Given the description of an element on the screen output the (x, y) to click on. 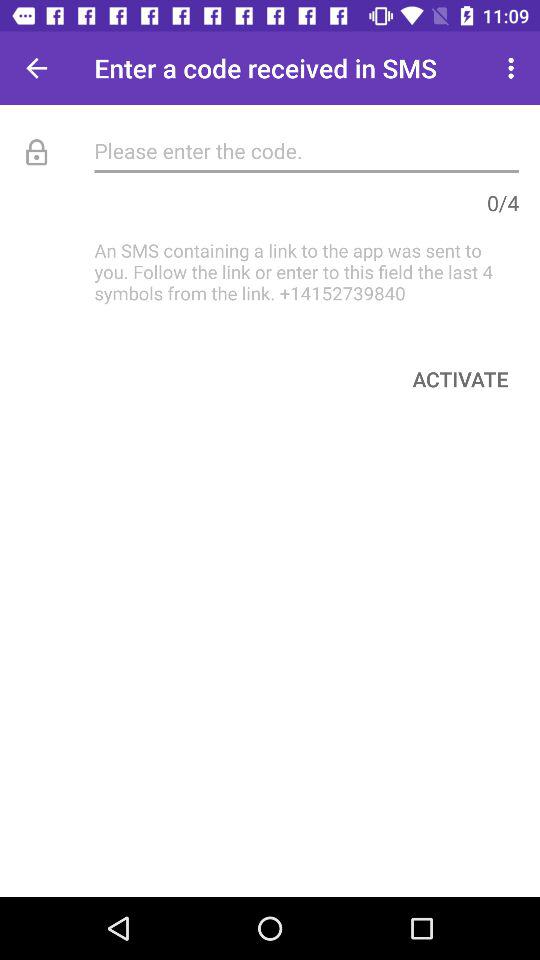
select item to the left of the enter a code (36, 68)
